Given the description of an element on the screen output the (x, y) to click on. 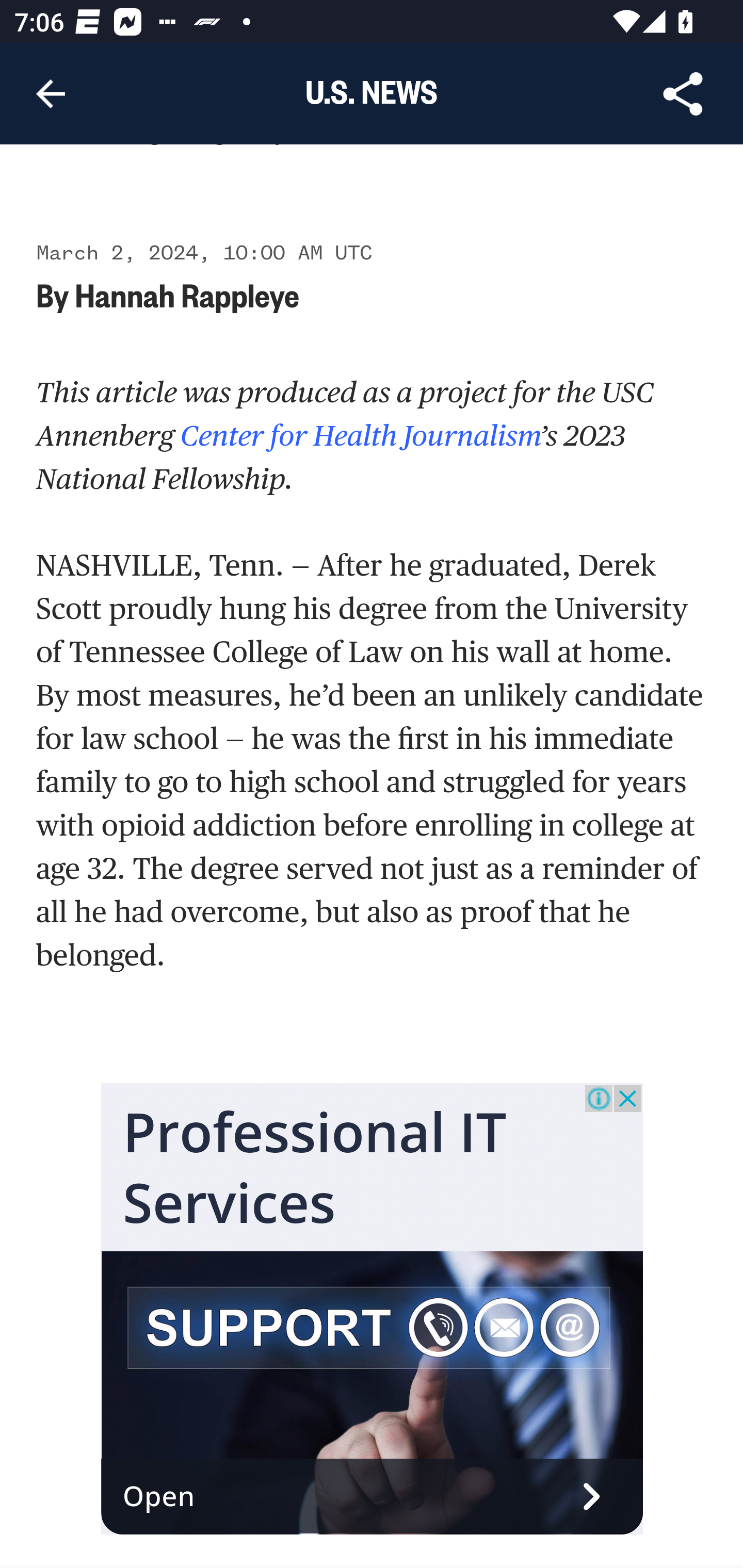
Navigate up (50, 93)
Share Article, button (683, 94)
 Center for Health Journalism (357, 435)
Professional IT Services Professional IT Services (314, 1167)
Open (372, 1497)
